Given the description of an element on the screen output the (x, y) to click on. 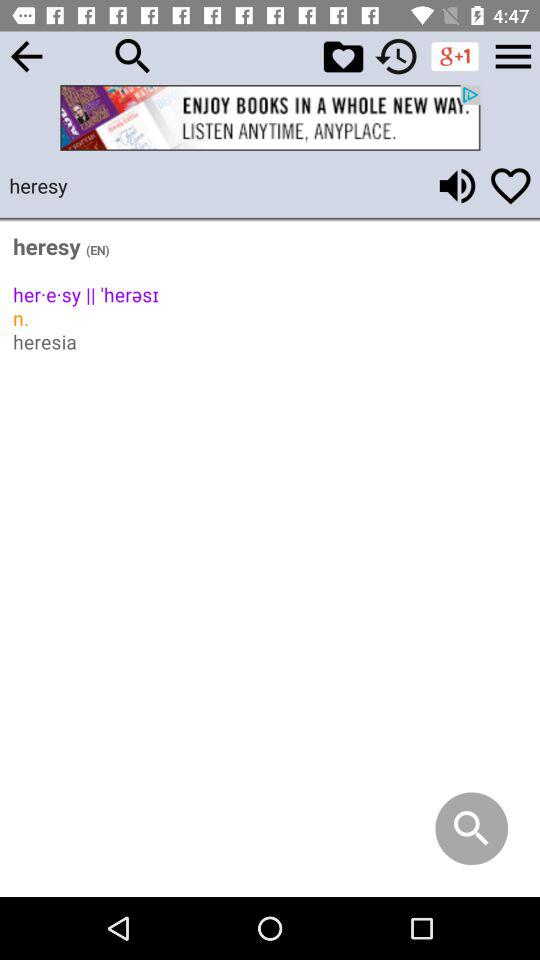
search the option (133, 56)
